Given the description of an element on the screen output the (x, y) to click on. 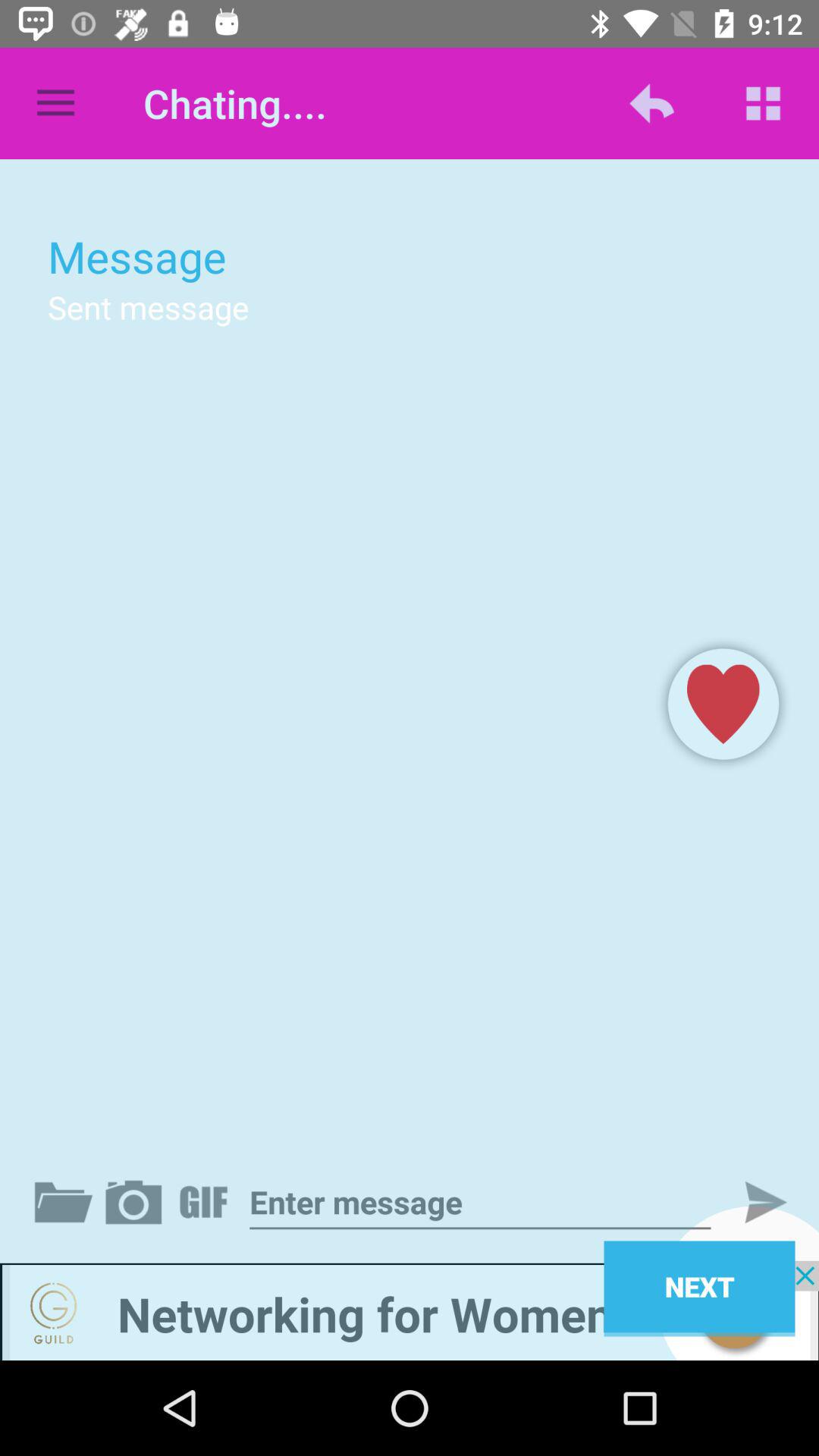
submit (752, 1202)
